Given the description of an element on the screen output the (x, y) to click on. 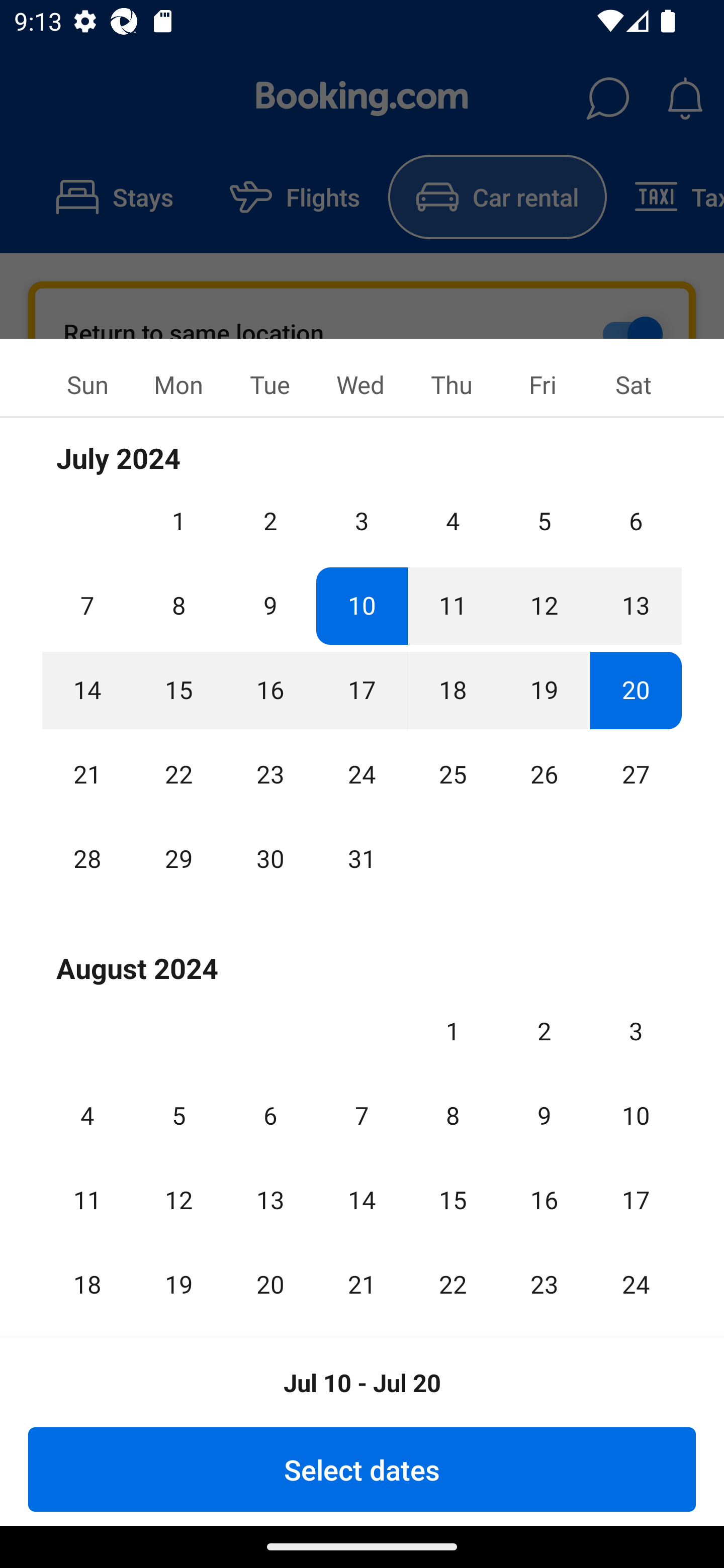
Select dates (361, 1468)
